Given the description of an element on the screen output the (x, y) to click on. 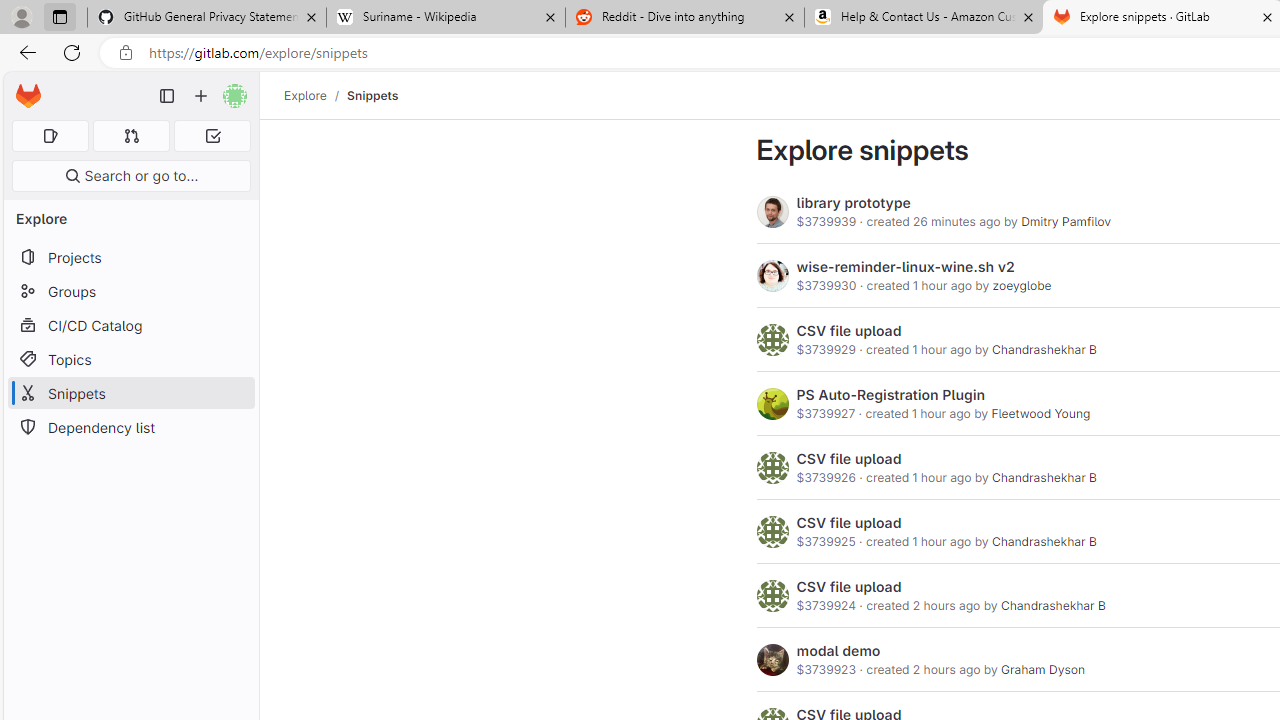
Assigned issues 0 (50, 136)
Dmitry Pamfilov (1066, 221)
Snippets (372, 95)
Help & Contact Us - Amazon Customer Service (924, 17)
Dependency list (130, 427)
Projects (130, 257)
Snippets (372, 95)
PS Auto-Registration Plugin (890, 394)
Skip to main content (23, 87)
To-Do list 0 (212, 136)
GitHub General Privacy Statement - GitHub Docs (207, 17)
zoeyglobe (1022, 285)
